Given the description of an element on the screen output the (x, y) to click on. 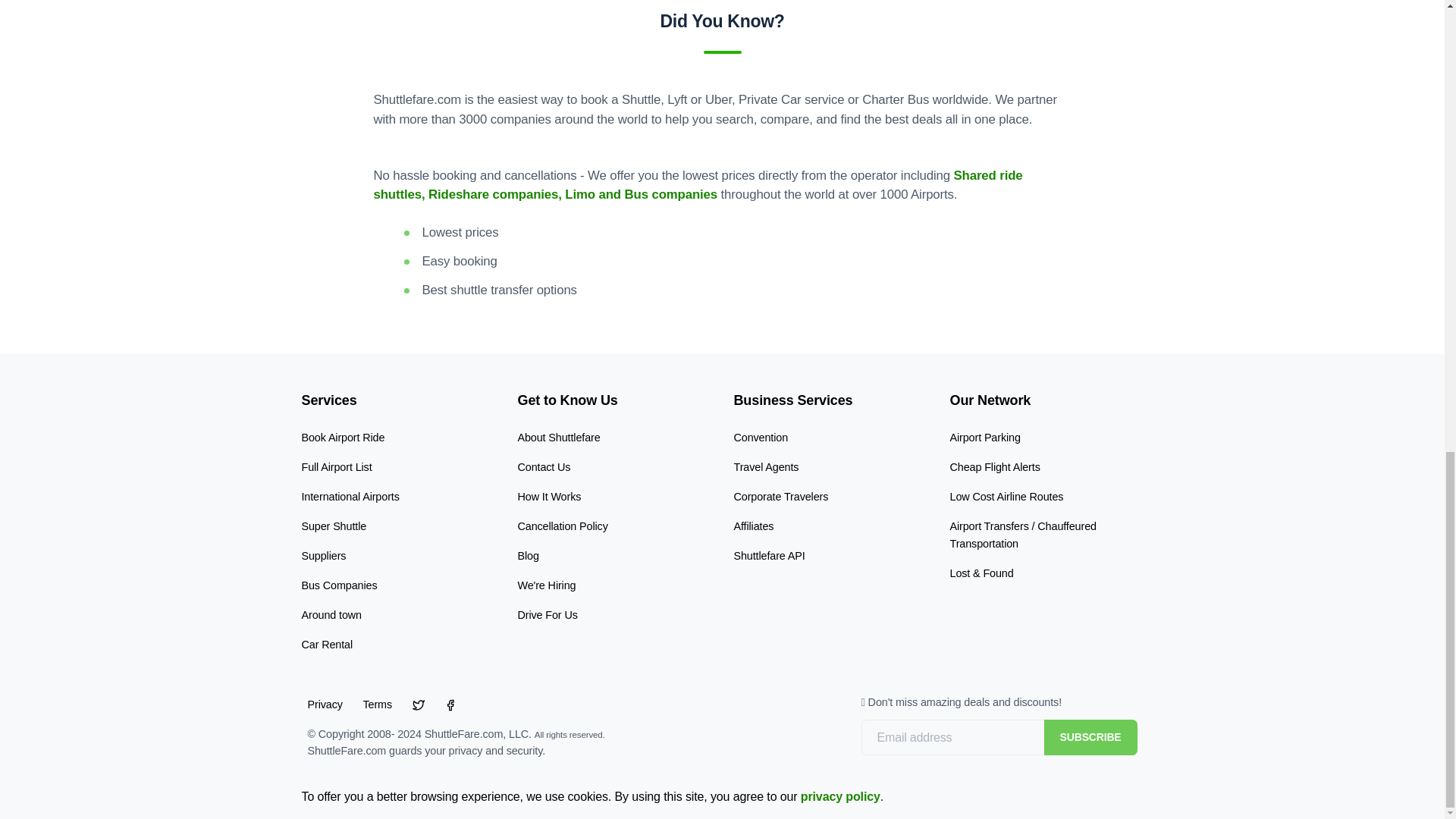
We're Hiring (545, 585)
Full Airport List (336, 467)
How It Works (548, 496)
Around town (331, 614)
Suppliers (323, 555)
Contact Us (543, 467)
Convention (761, 437)
Blog (527, 555)
Drive For Us (546, 614)
Cancellation Policy (561, 526)
International Airports (349, 496)
Book Airport Ride (343, 437)
About Shuttlefare (557, 437)
Bus Companies (339, 585)
